Given the description of an element on the screen output the (x, y) to click on. 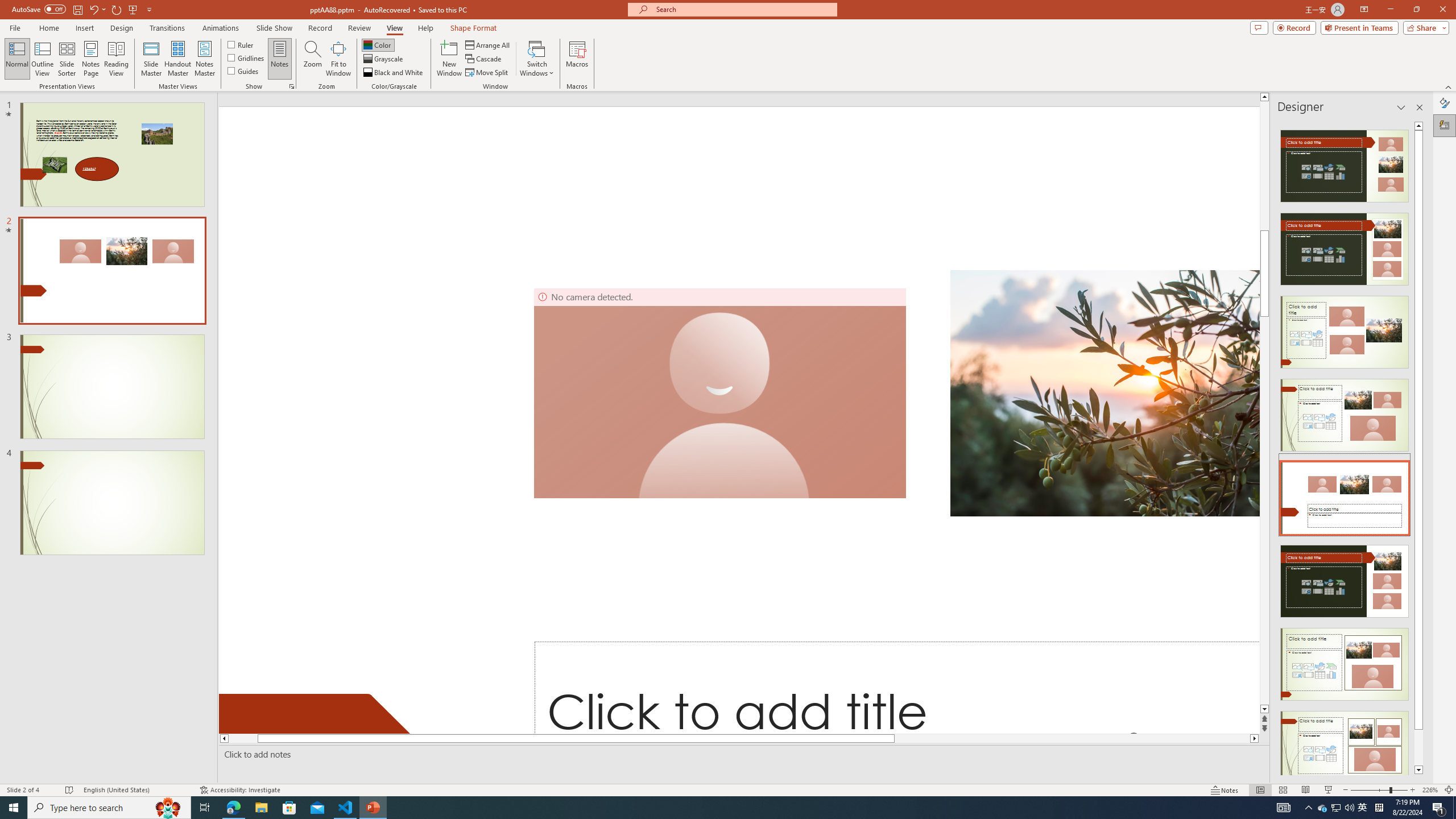
Arrange All (488, 44)
Handout Master (177, 58)
Move Split (487, 72)
Slide Master (151, 58)
